Given the description of an element on the screen output the (x, y) to click on. 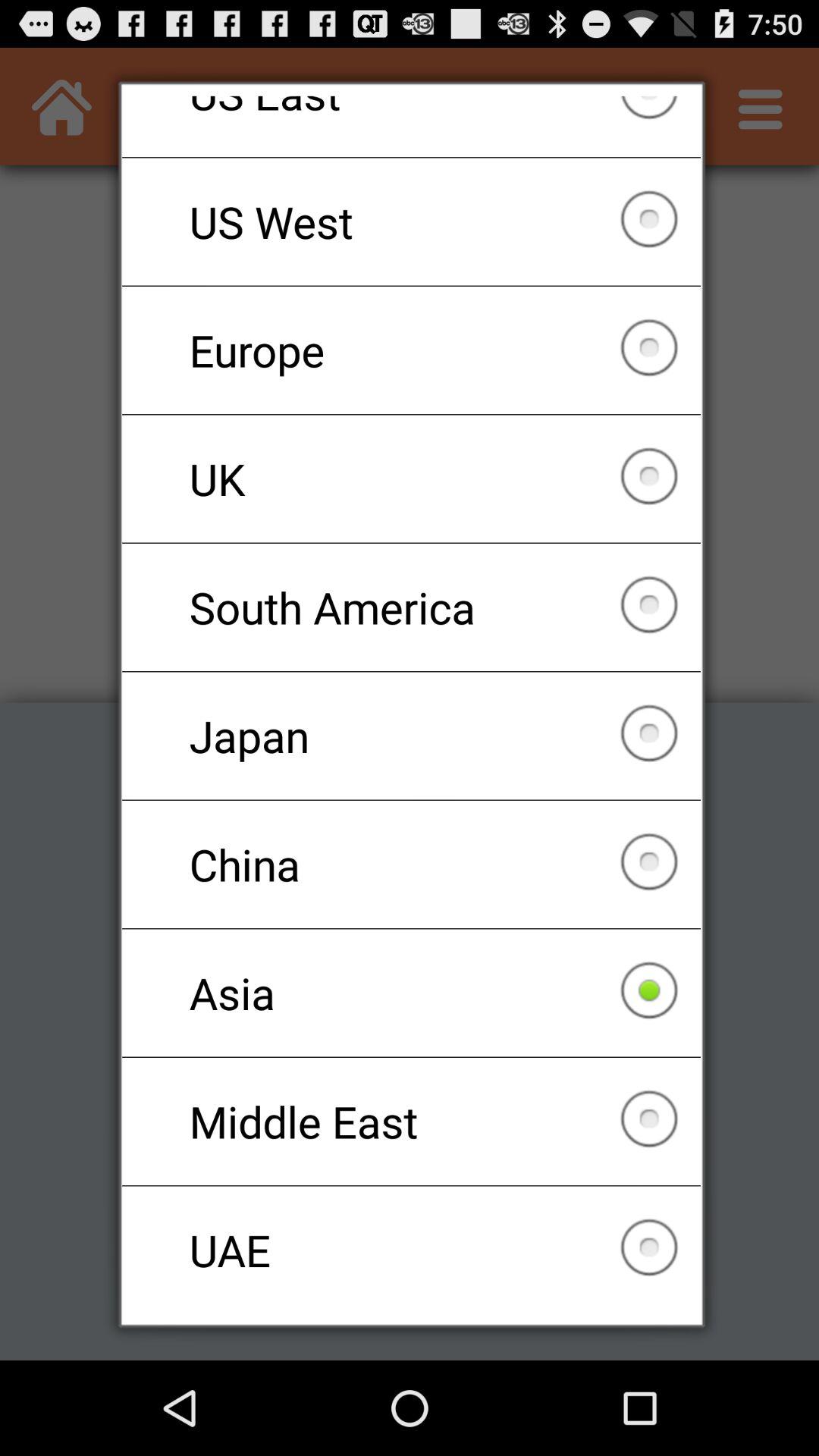
tap the checkbox above     asia item (411, 864)
